Given the description of an element on the screen output the (x, y) to click on. 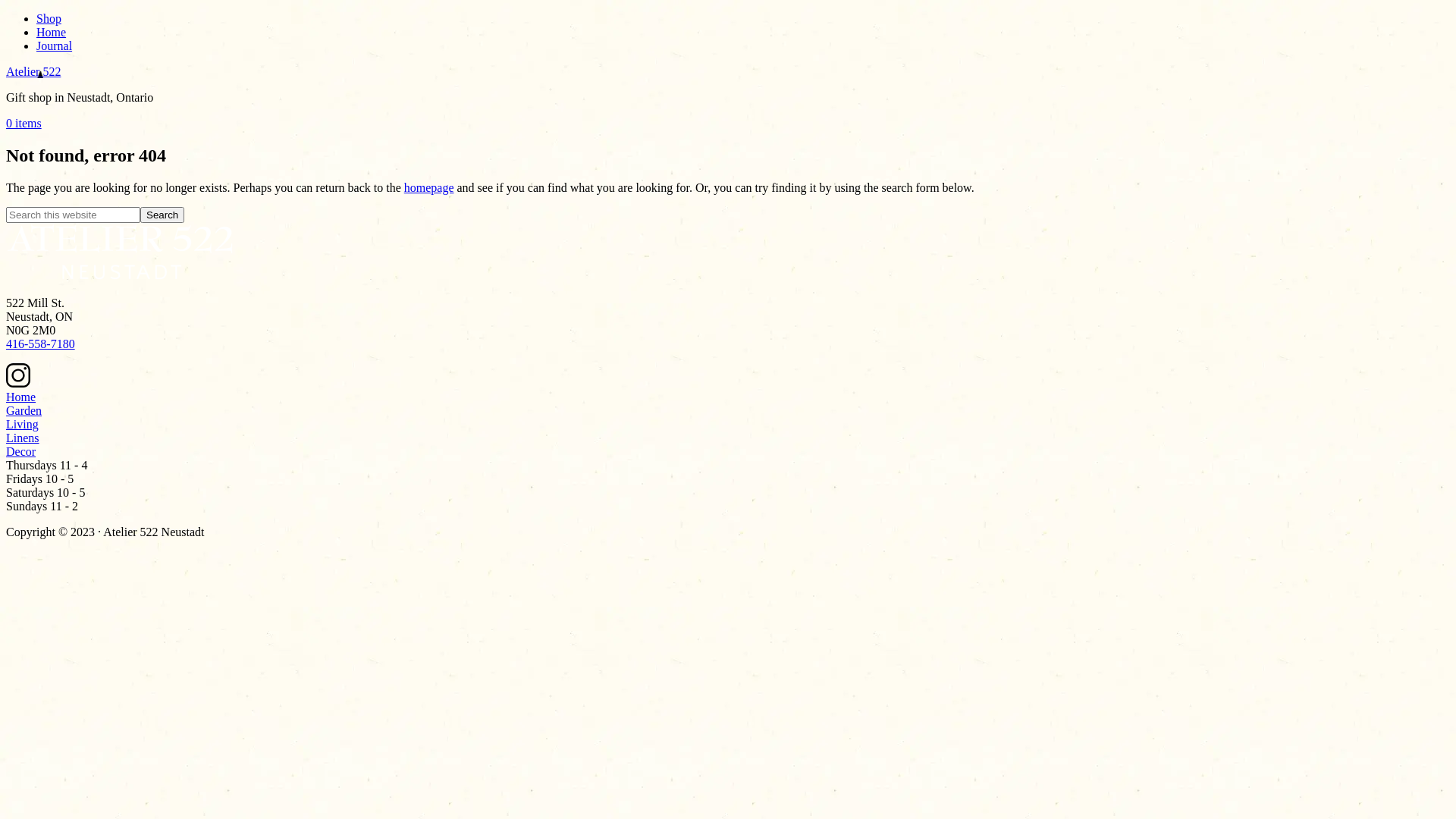
Instagram Element type: text (18, 382)
Living Element type: text (22, 423)
Journal Element type: text (54, 45)
0 items Element type: text (23, 122)
Home Element type: text (50, 31)
Decor Element type: text (20, 451)
Garden Element type: text (23, 410)
Search Element type: text (162, 214)
homepage Element type: text (429, 187)
416-558-7180 Element type: text (40, 343)
Shop Element type: text (48, 18)
Atelier 522 Element type: text (33, 71)
Home Element type: text (20, 396)
Linens Element type: text (22, 437)
